Given the description of an element on the screen output the (x, y) to click on. 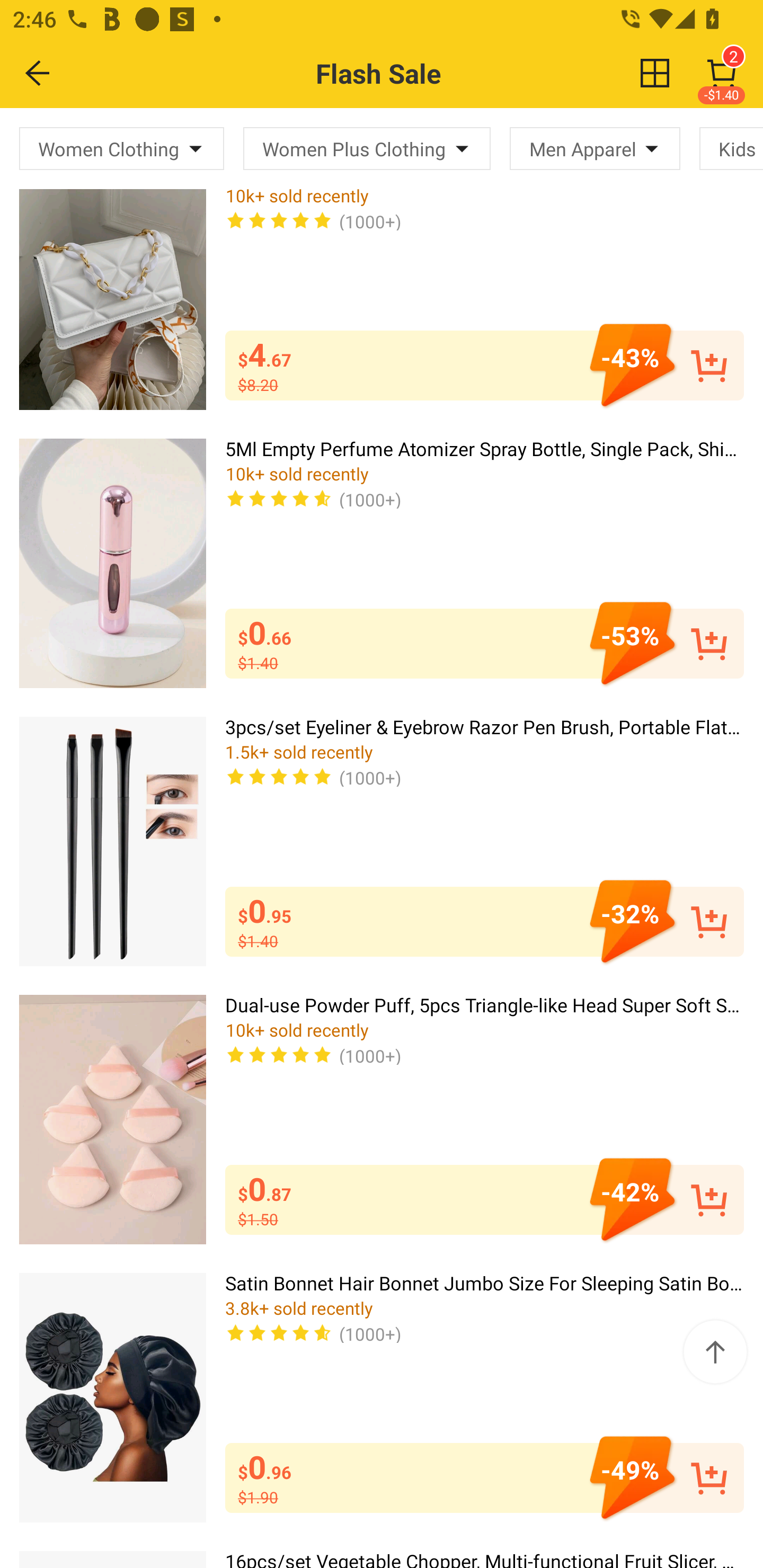
Flash Sale change view 2 -$1.40 (419, 72)
2 -$1.40 (721, 72)
change view (654, 72)
BACK (38, 72)
Women Clothing (121, 148)
Women Plus Clothing (366, 148)
Men Apparel (594, 148)
Kids (731, 148)
Back to top (714, 1351)
